Given the description of an element on the screen output the (x, y) to click on. 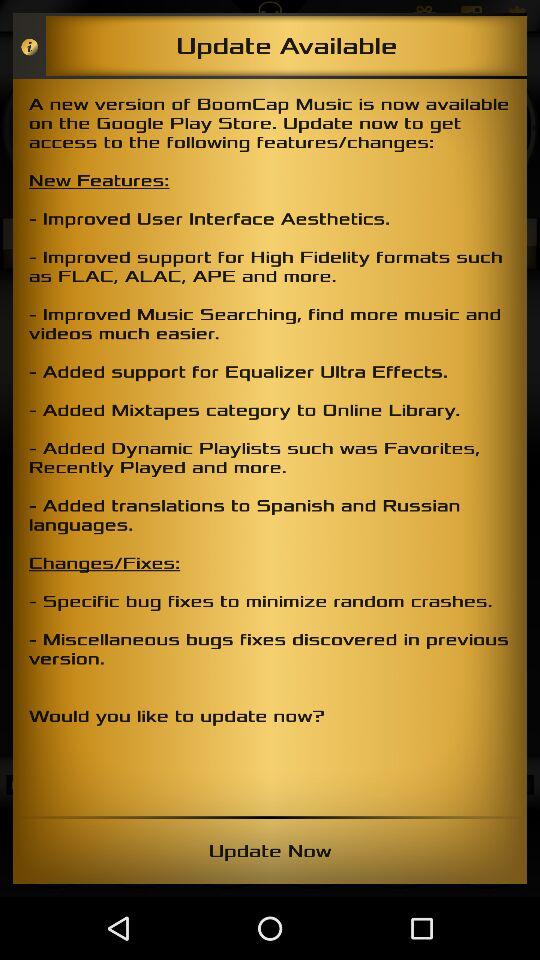
open the item at the center (269, 447)
